Given the description of an element on the screen output the (x, y) to click on. 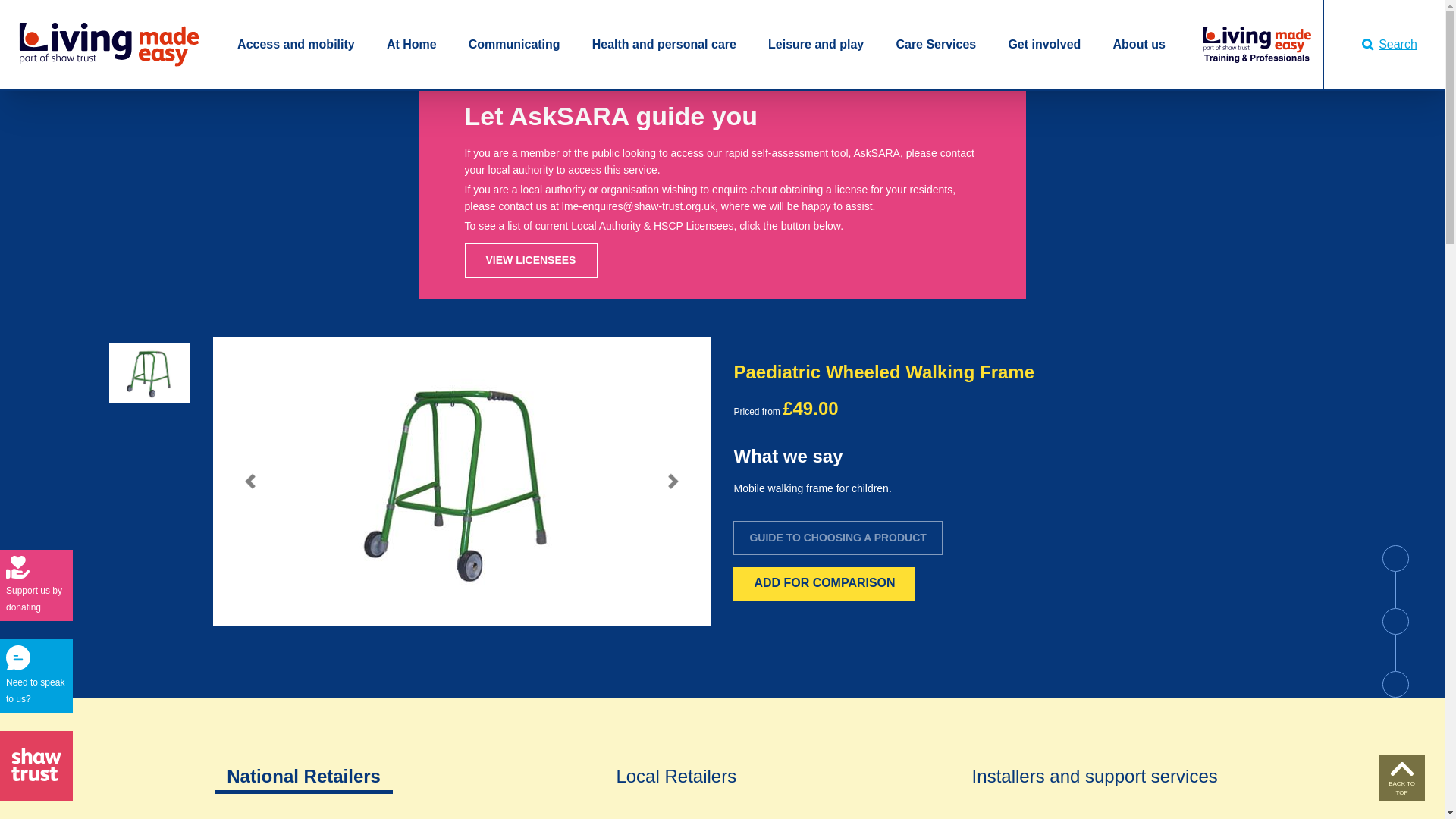
Next (673, 480)
Communicating (514, 44)
Previous (249, 480)
Installers and support services (1094, 764)
Leisure and play (815, 44)
Health and personal care (664, 44)
At Home (411, 44)
VIEW LICENSEES (530, 260)
Access and mobility (296, 44)
National Retailers (303, 764)
GUIDE TO CHOOSING A PRODUCT (837, 537)
Get involved (1043, 44)
About us (1139, 44)
Care Services (935, 44)
Local Retailers (676, 764)
